Given the description of an element on the screen output the (x, y) to click on. 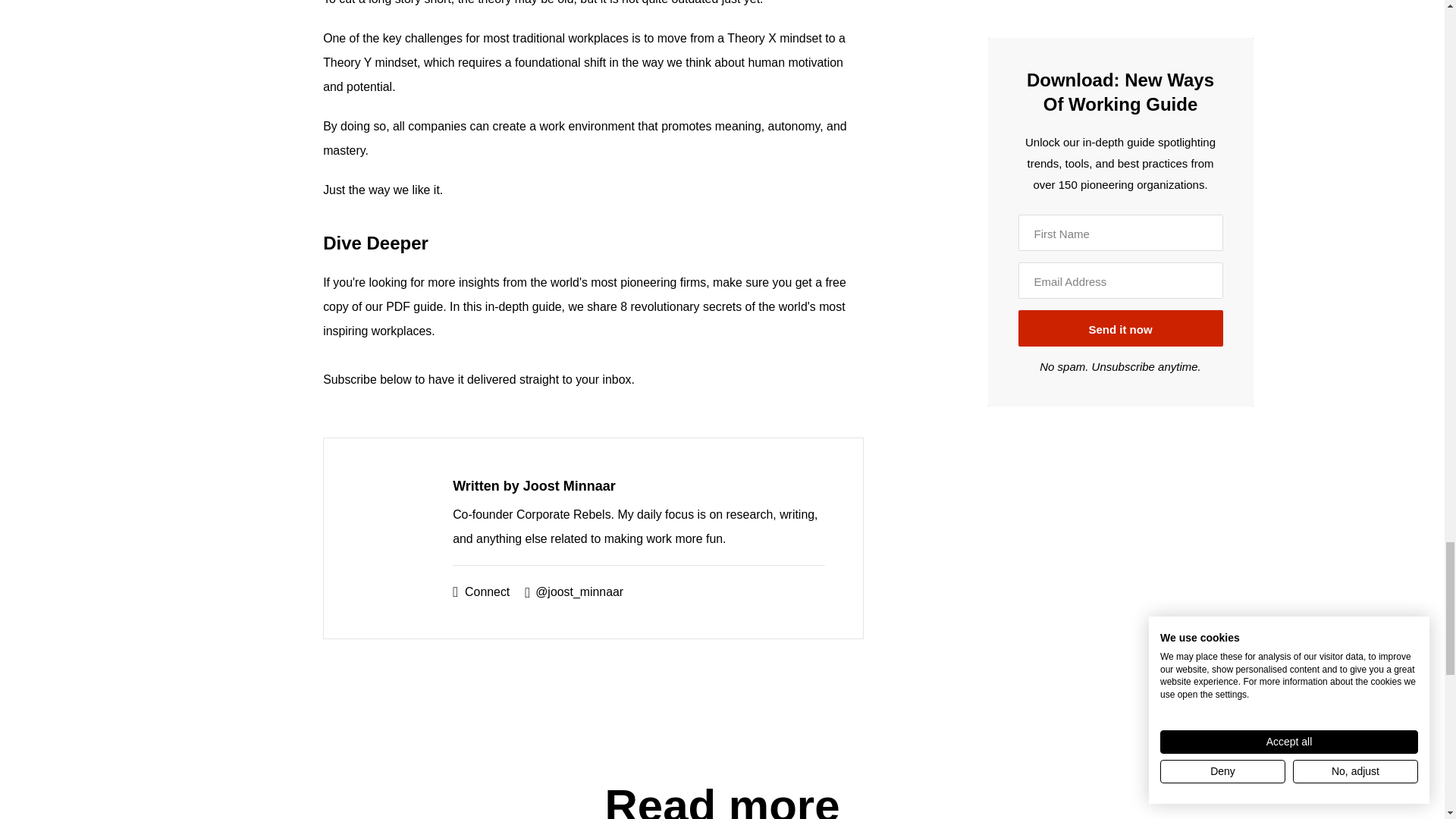
Connect (480, 591)
